Given the description of an element on the screen output the (x, y) to click on. 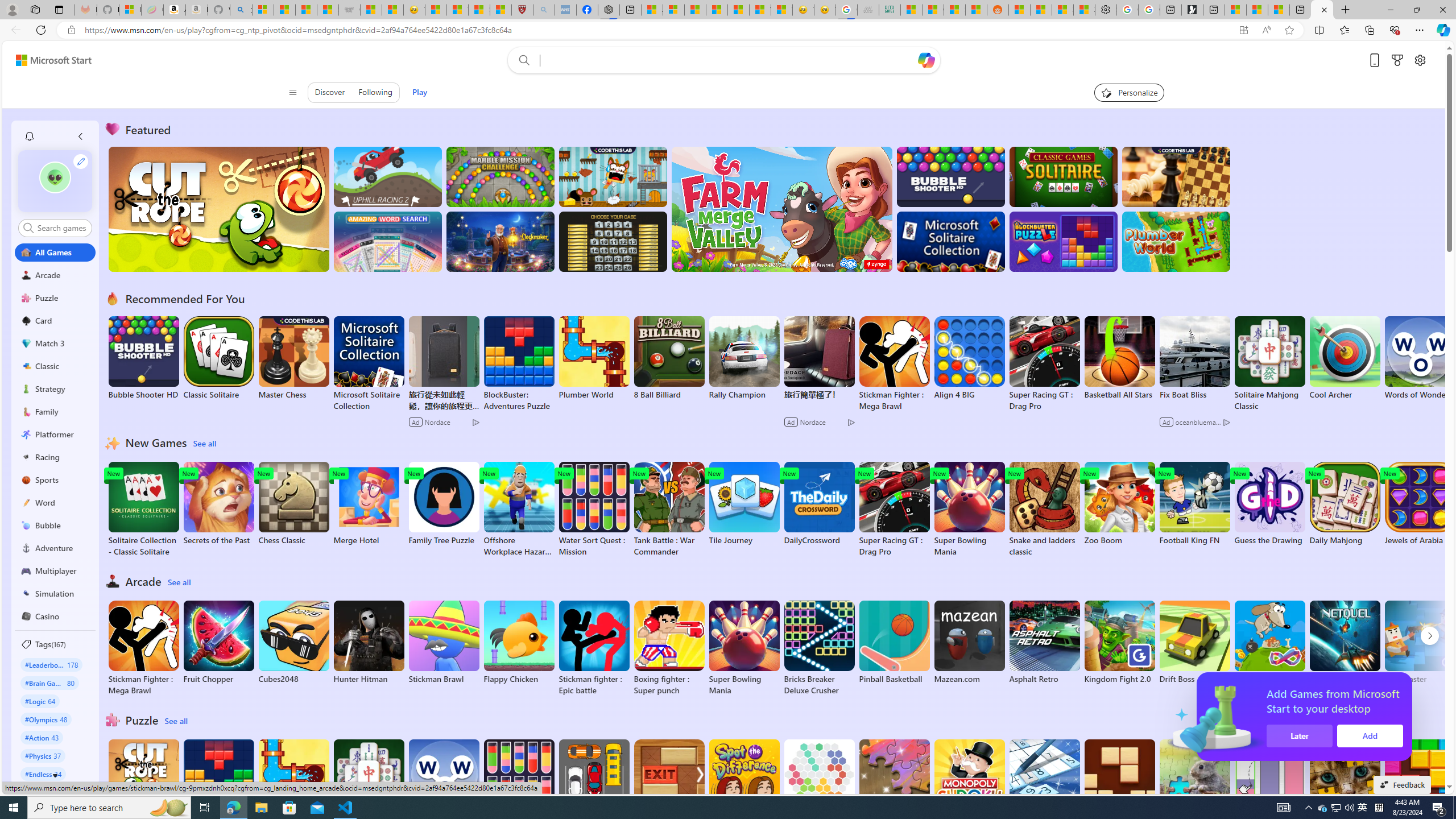
Rally Champion (744, 358)
Class: ad-choice  ad-choice-mono  (1226, 422)
Amazing Word Search (387, 241)
App available. Install Games from Microsoft Start (1220, 29)
Classic Solitaire (218, 358)
Stickman fighter : Epic battle (593, 648)
Marble Mission : Challenge (499, 176)
Cool Archer (1344, 358)
